Given the description of an element on the screen output the (x, y) to click on. 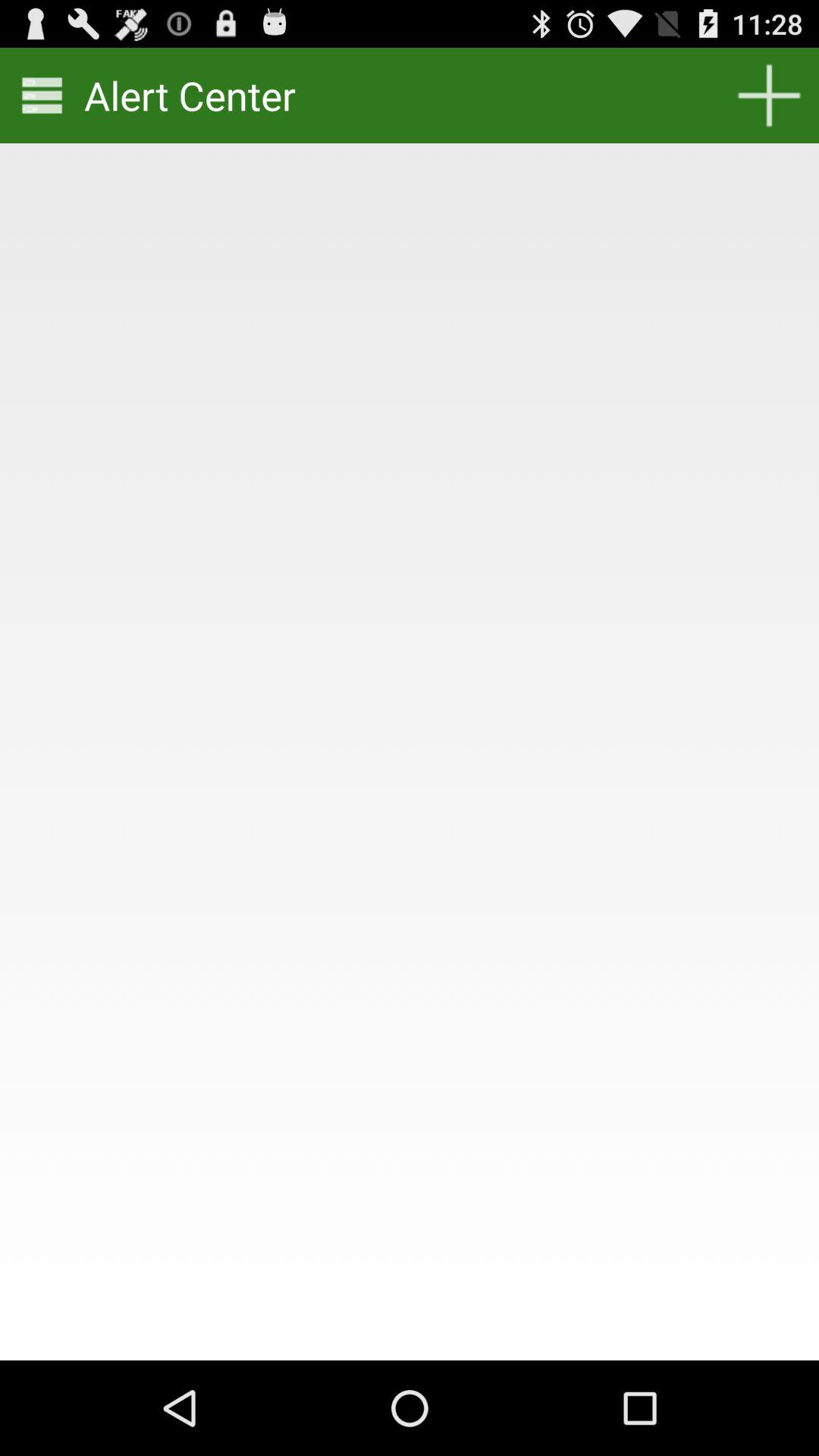
create new alert button (769, 95)
